Given the description of an element on the screen output the (x, y) to click on. 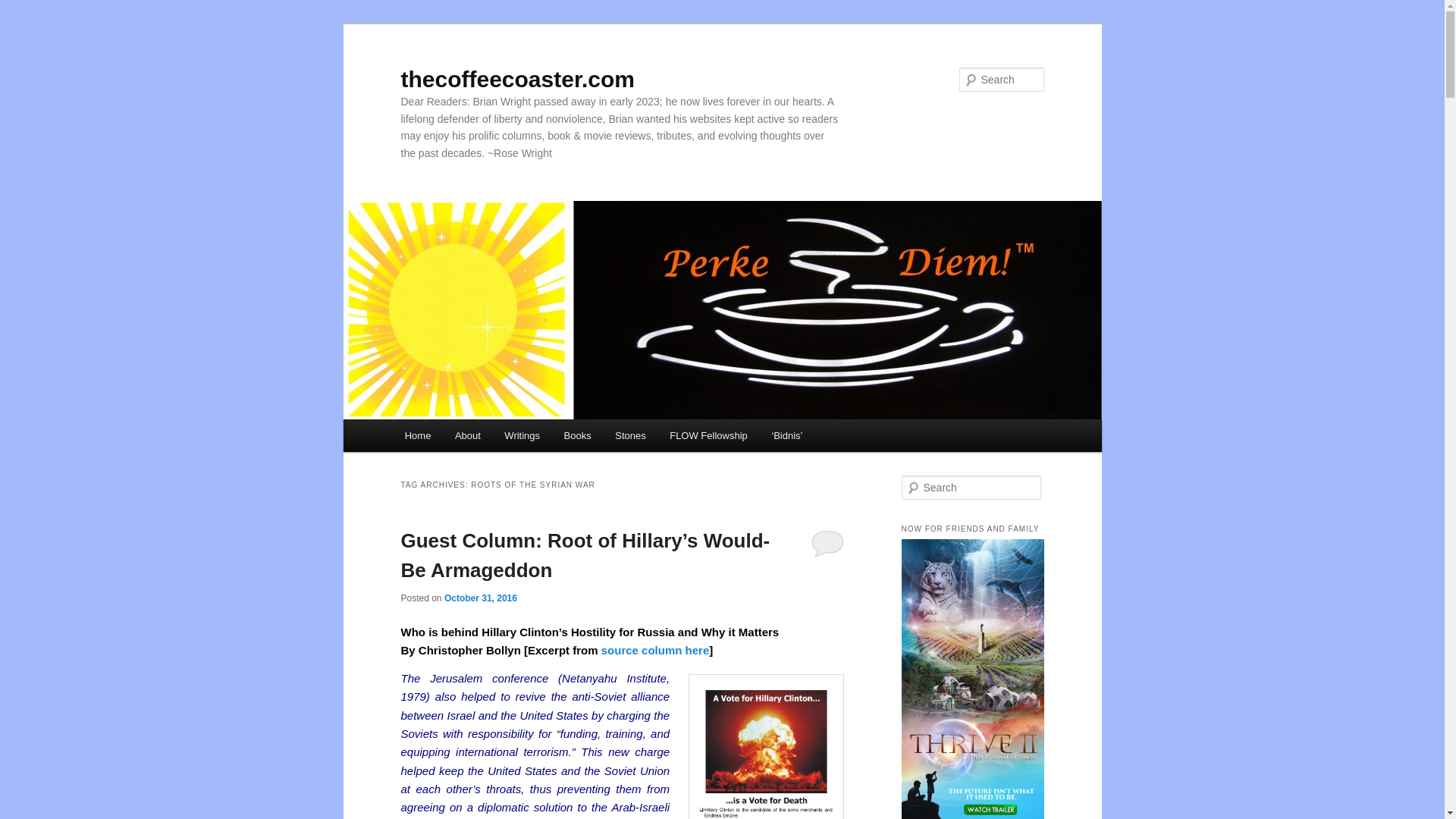
About (467, 435)
thecoffeecoaster.com (516, 78)
Writings (522, 435)
Home (417, 435)
13:40 (480, 597)
October 31, 2016 (480, 597)
FLOW Fellowship (708, 435)
source column here (655, 649)
Search (24, 8)
